Given the description of an element on the screen output the (x, y) to click on. 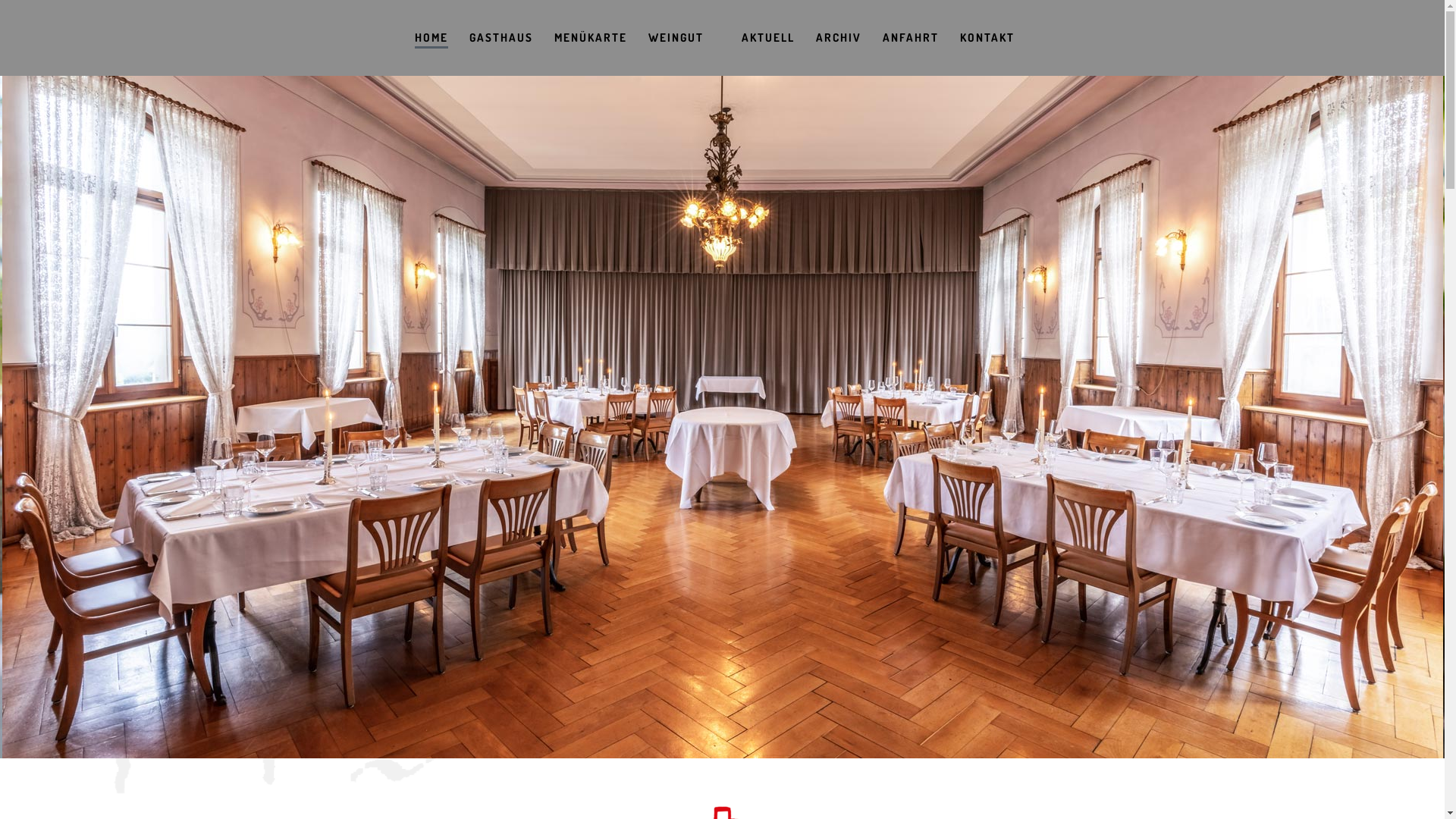
HOME Element type: text (430, 37)
AKTUELL Element type: text (768, 37)
ARCHIV Element type: text (838, 37)
ANFAHRT Element type: text (910, 37)
WEINGUT Element type: text (675, 37)
Gasthaus Bad Osterfingen Element type: hover (721, 416)
KONTAKT Element type: text (987, 37)
GASTHAUS Element type: text (500, 37)
